Given the description of an element on the screen output the (x, y) to click on. 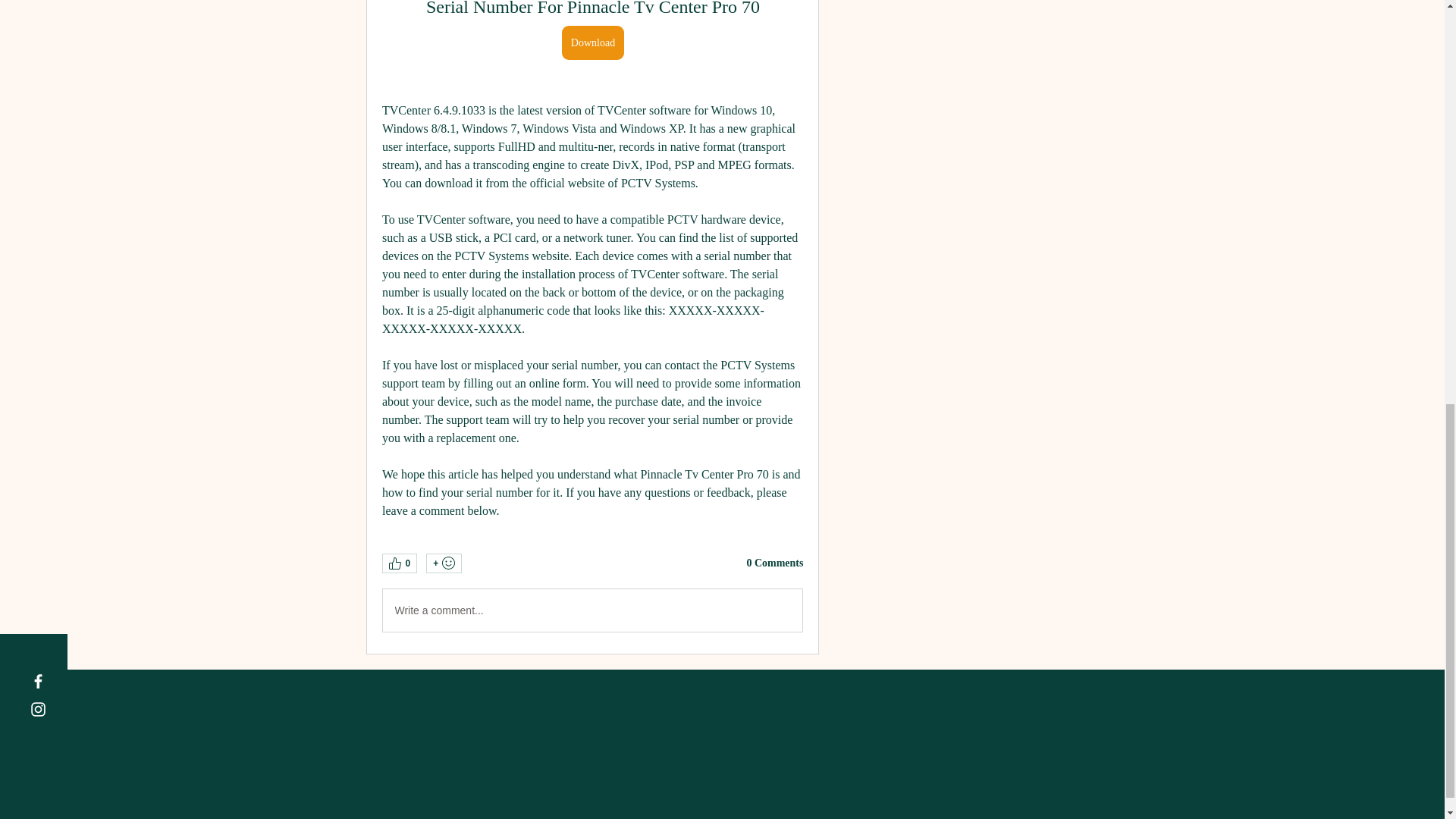
Write a comment... (591, 609)
Download (591, 42)
0 Comments (774, 563)
